Given the description of an element on the screen output the (x, y) to click on. 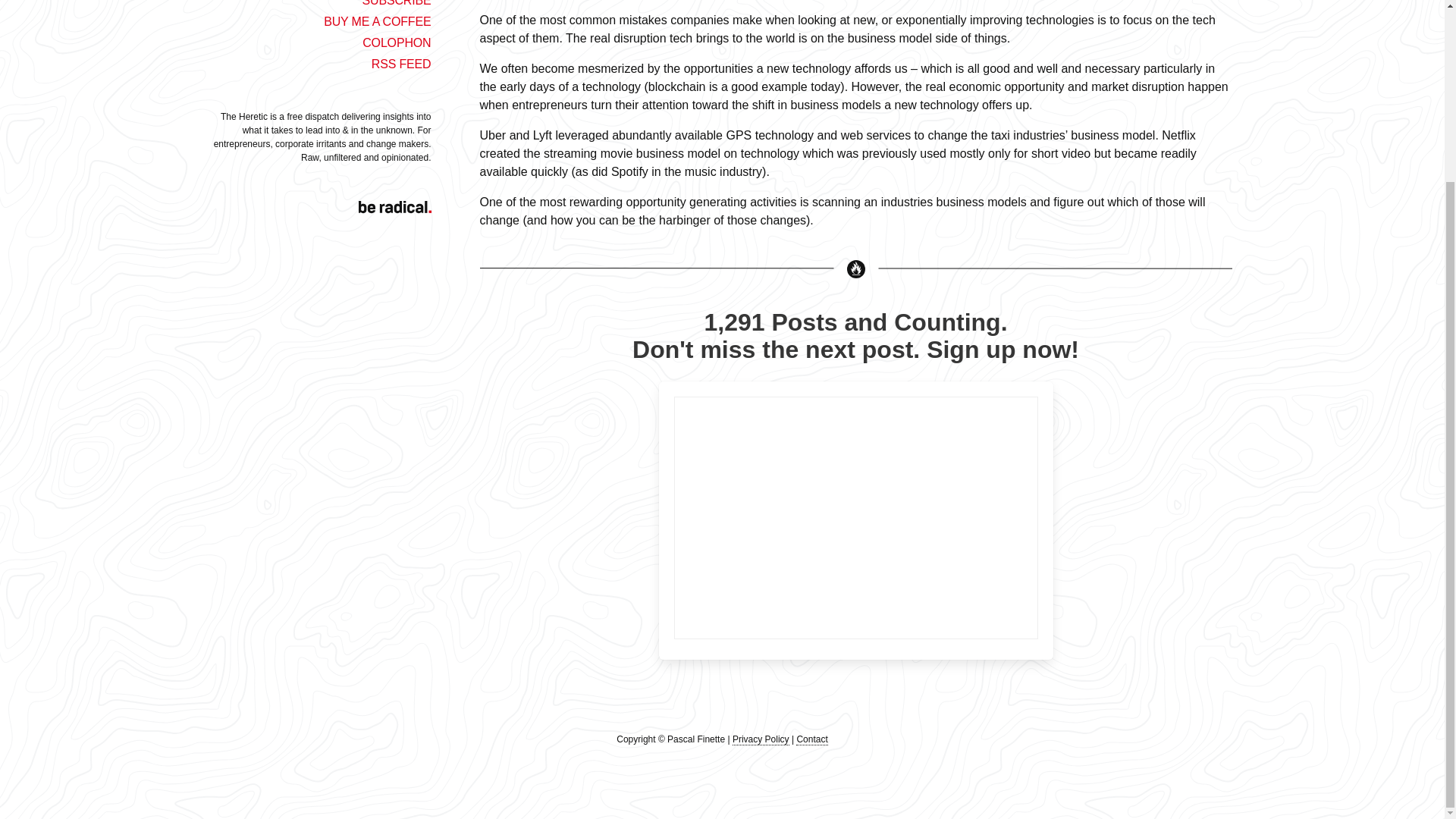
Contact (811, 739)
BUY ME A COFFEE (376, 21)
Privacy Policy (760, 739)
RSS FEED (400, 63)
COLOPHON (396, 42)
SUBSCRIBE (395, 3)
